Given the description of an element on the screen output the (x, y) to click on. 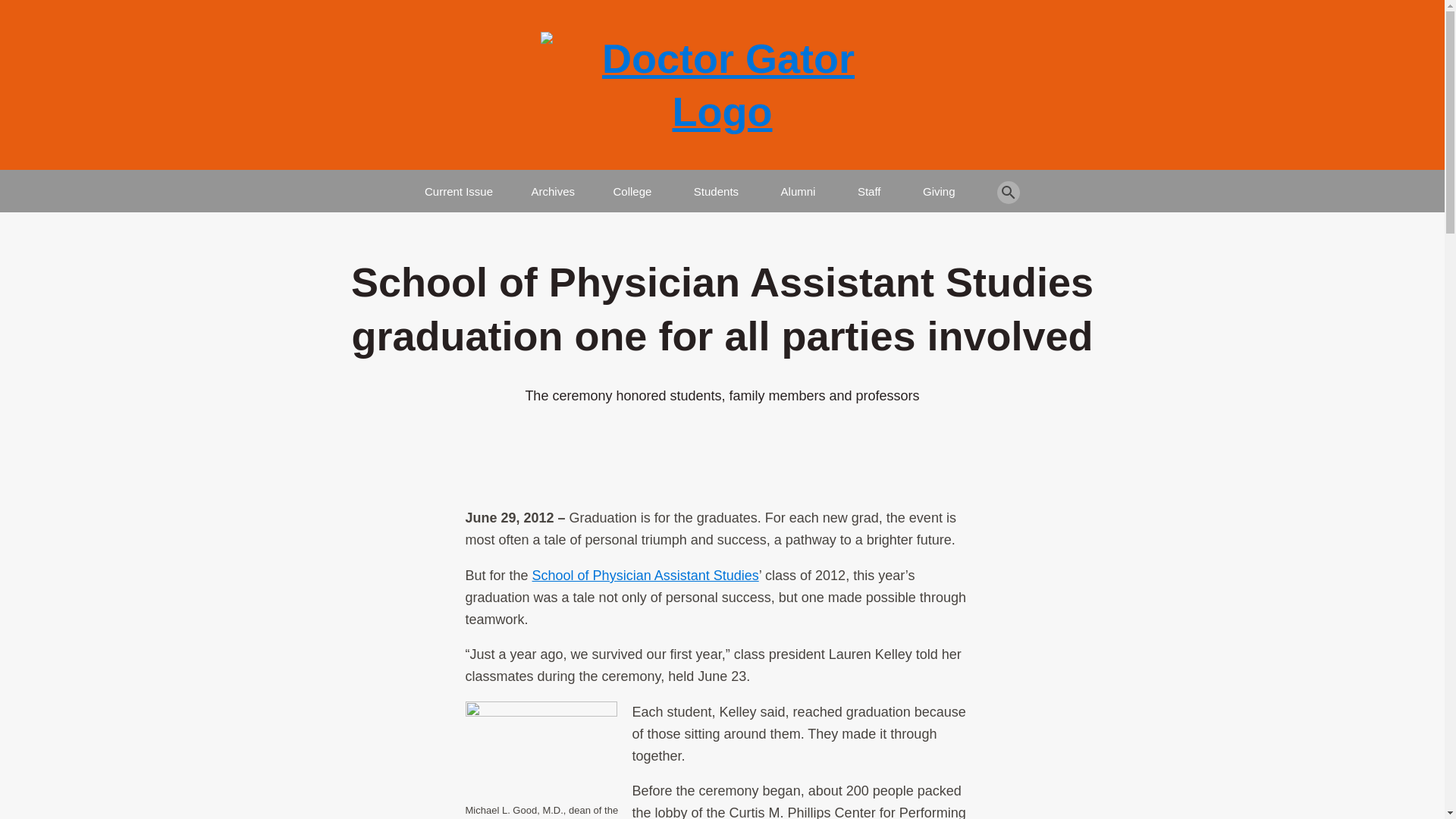
Current Issue (459, 184)
Doctor Gator - Home (722, 84)
Alumni (797, 184)
Archives (553, 184)
Giving (939, 184)
School of Physician Assistant Studies (645, 575)
Students (716, 184)
College (631, 184)
